Given the description of an element on the screen output the (x, y) to click on. 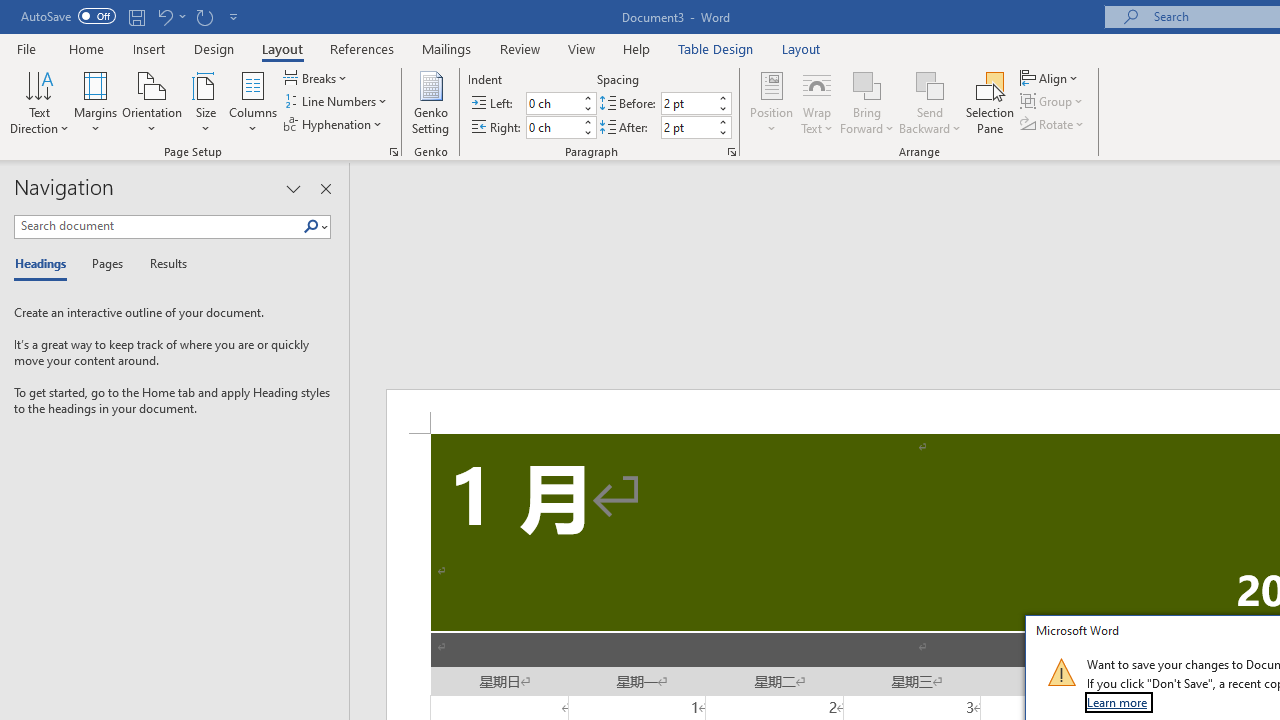
Spacing Before (687, 103)
Paragraph... (731, 151)
Margins (95, 102)
Align (1051, 78)
Spacing After (687, 127)
Rotate (1053, 124)
Repeat Doc Close (204, 15)
